Given the description of an element on the screen output the (x, y) to click on. 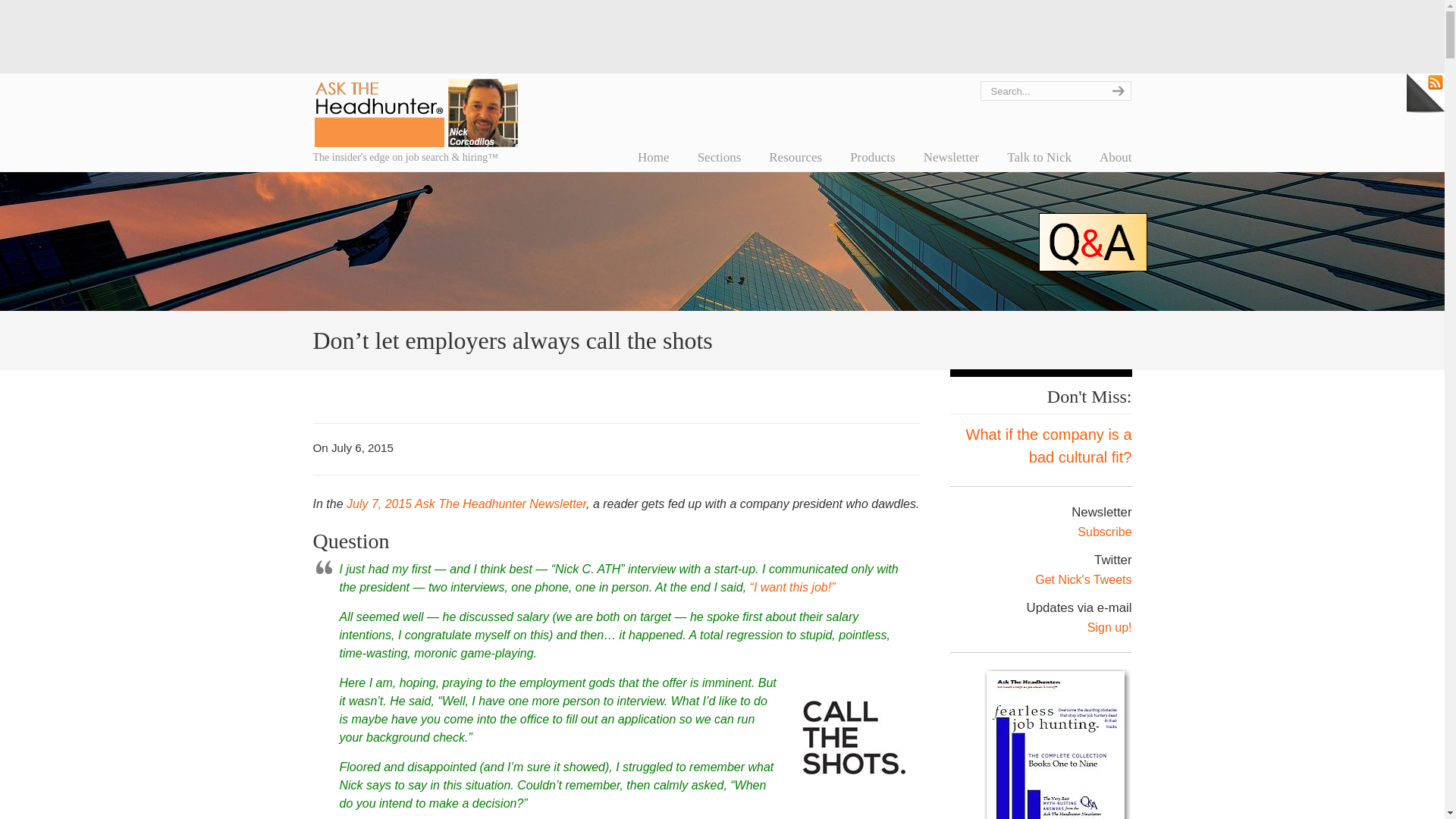
Home (653, 157)
search (1115, 90)
July 7, 2015 Ask The Headhunter Newsletter (466, 503)
About (1115, 157)
Advertisement (721, 33)
Ask The Headhunter Newsletter (466, 503)
Resources (795, 157)
Search... (1039, 90)
Products (872, 157)
Talk to Nick (1038, 157)
search (1115, 90)
search (1115, 90)
Sections (719, 157)
Newsletter (951, 157)
